Given the description of an element on the screen output the (x, y) to click on. 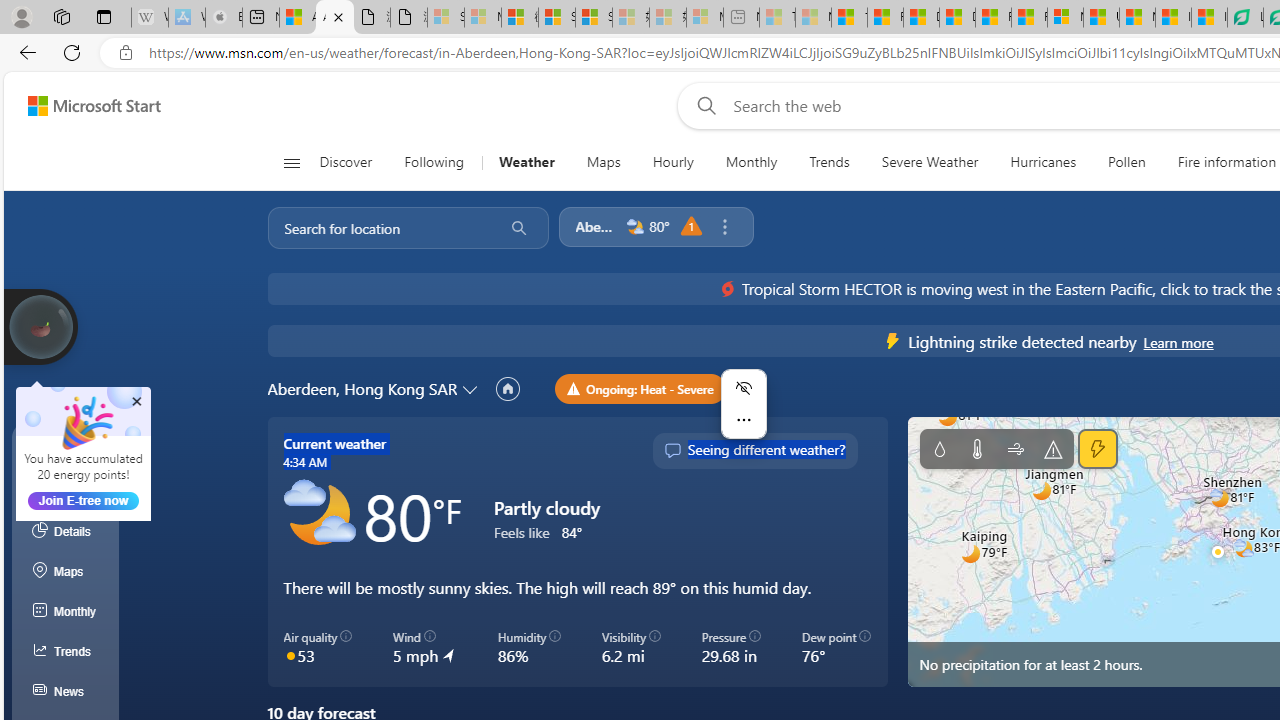
Humidity 86% (528, 647)
Pressure 29.68 in (731, 647)
Hide menu (743, 387)
Hurricanes (1042, 162)
Pollen (1126, 162)
